Given the description of an element on the screen output the (x, y) to click on. 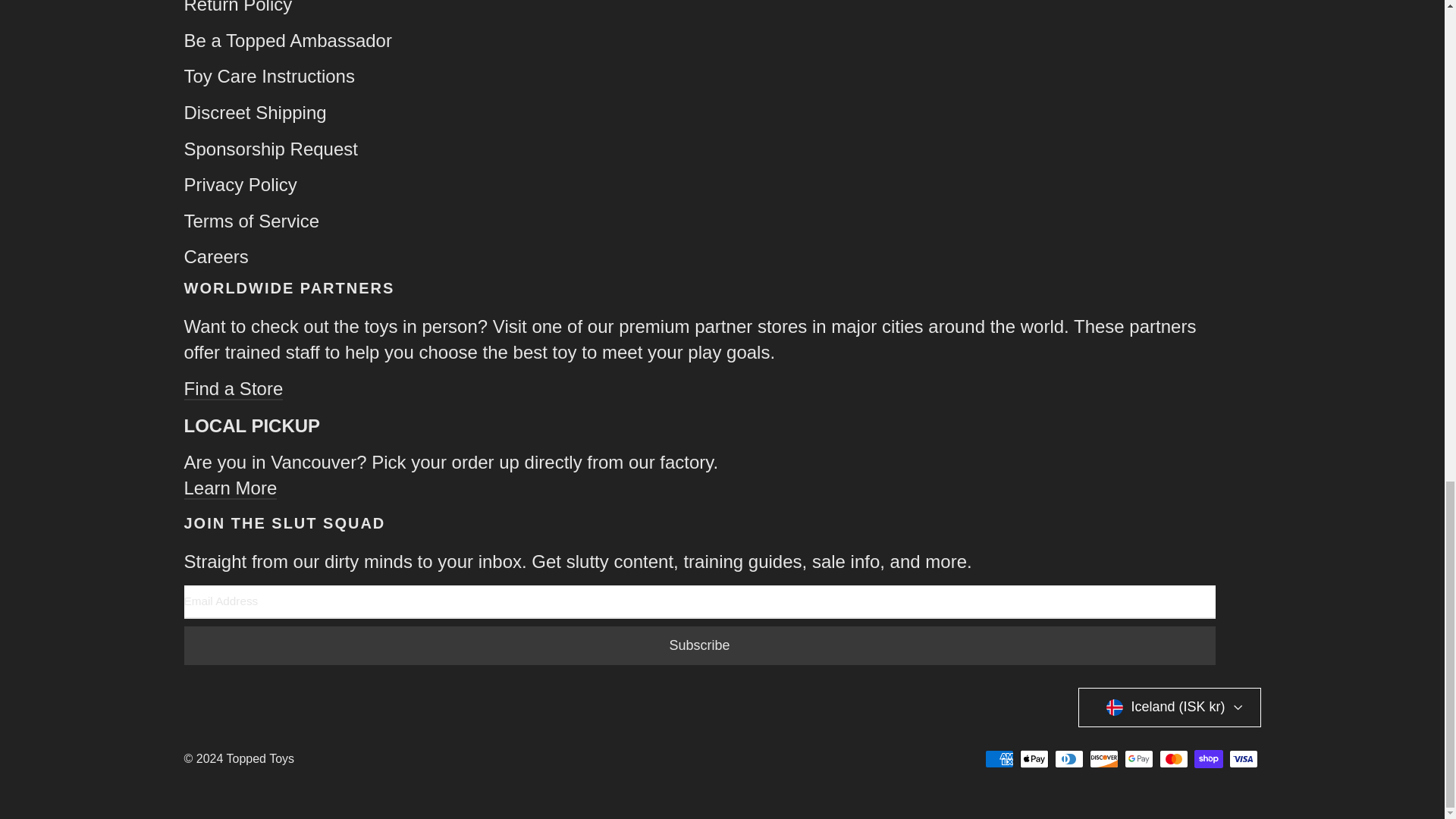
Shop Pay (1208, 759)
Google Pay (1138, 759)
Apple Pay (1033, 759)
American Express (998, 759)
Discover (1103, 759)
Diners Club (1068, 759)
Visa (1242, 759)
Mastercard (1173, 759)
